Given the description of an element on the screen output the (x, y) to click on. 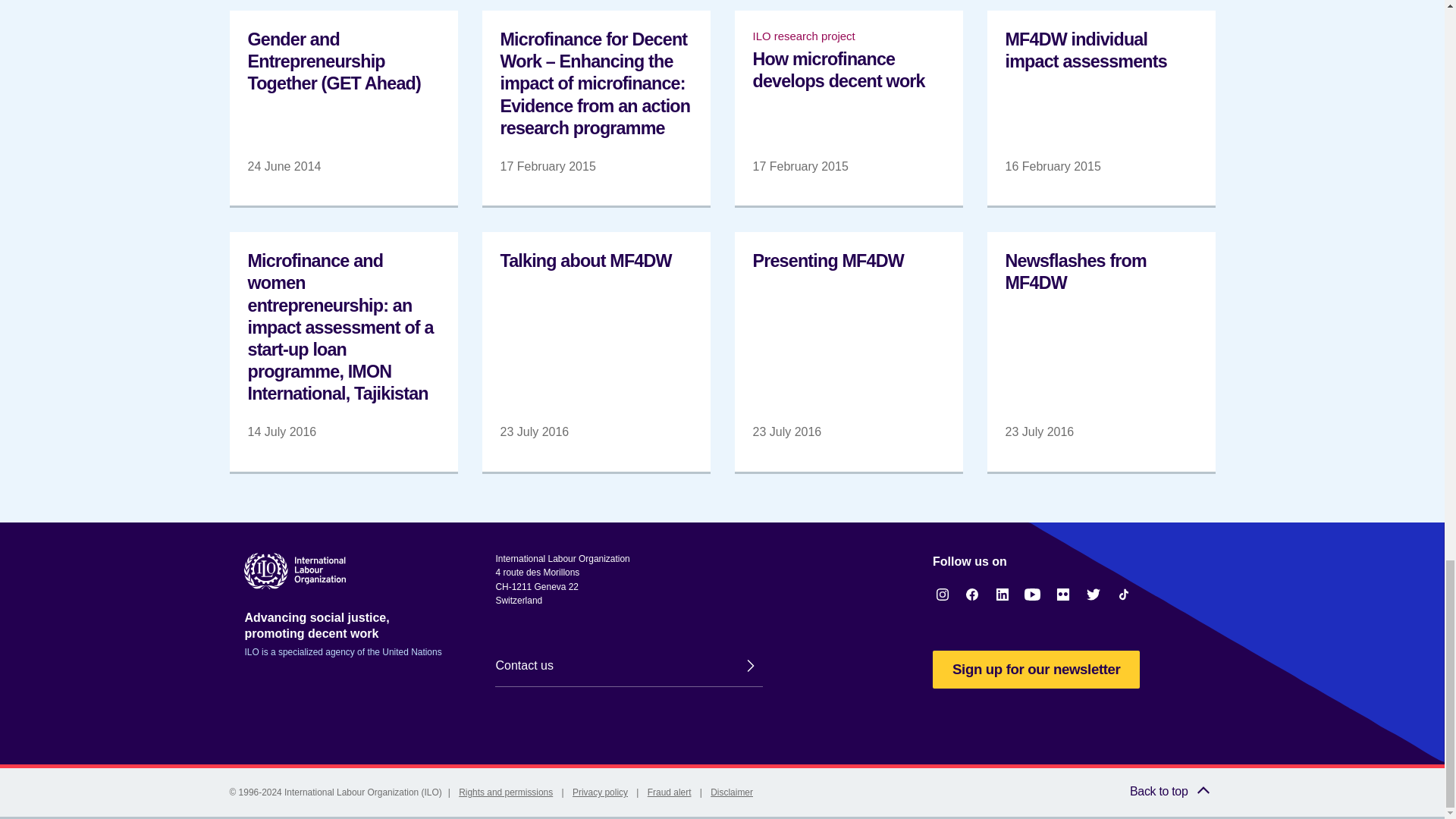
How microfinance develops decent work (847, 107)
Presenting MF4DW (847, 350)
Tiktok (1123, 594)
Newsflashes from MF4DW (1101, 350)
Linkedin (1001, 594)
Talking about MF4DW (595, 350)
Instagram (941, 594)
Youtube (1032, 594)
Facebook (971, 594)
Twitter (1093, 594)
